Given the description of an element on the screen output the (x, y) to click on. 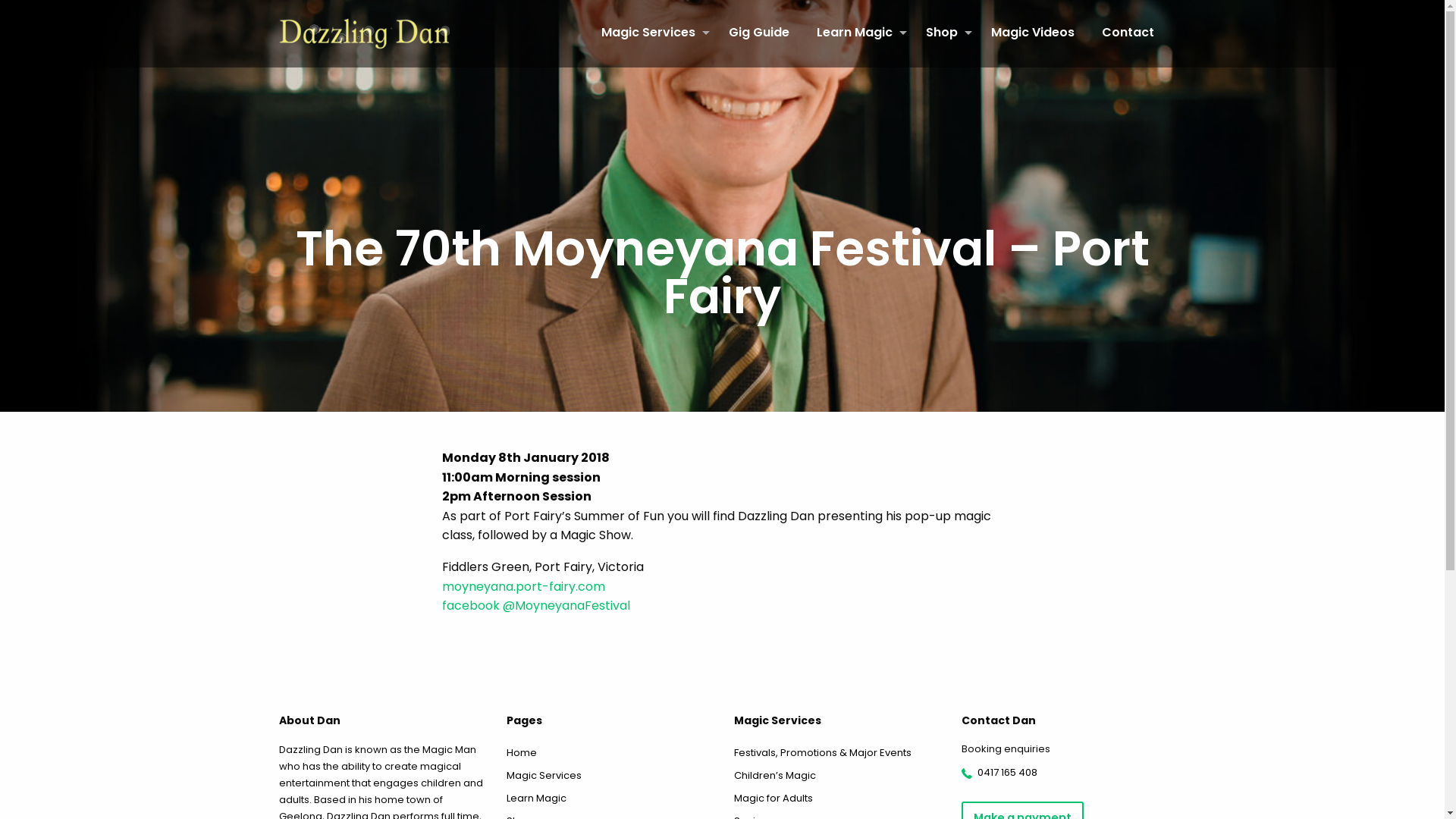
Magic Videos Element type: text (1031, 32)
Magic Services Element type: text (650, 32)
Learn Magic Element type: text (608, 798)
Magic Services Element type: text (608, 775)
moyneyana.port-fairy.com Element type: text (522, 586)
Shop Element type: text (944, 32)
Learn Magic Element type: text (856, 32)
0417 165 408 Element type: text (1006, 772)
Home Element type: text (608, 752)
Gig Guide Element type: text (757, 32)
Contact Element type: text (1126, 32)
facebook @MoyneyanaFestival Element type: text (535, 605)
Magic for Adults Element type: text (836, 798)
Festivals, Promotions & Major Events Element type: text (836, 752)
